Given the description of an element on the screen output the (x, y) to click on. 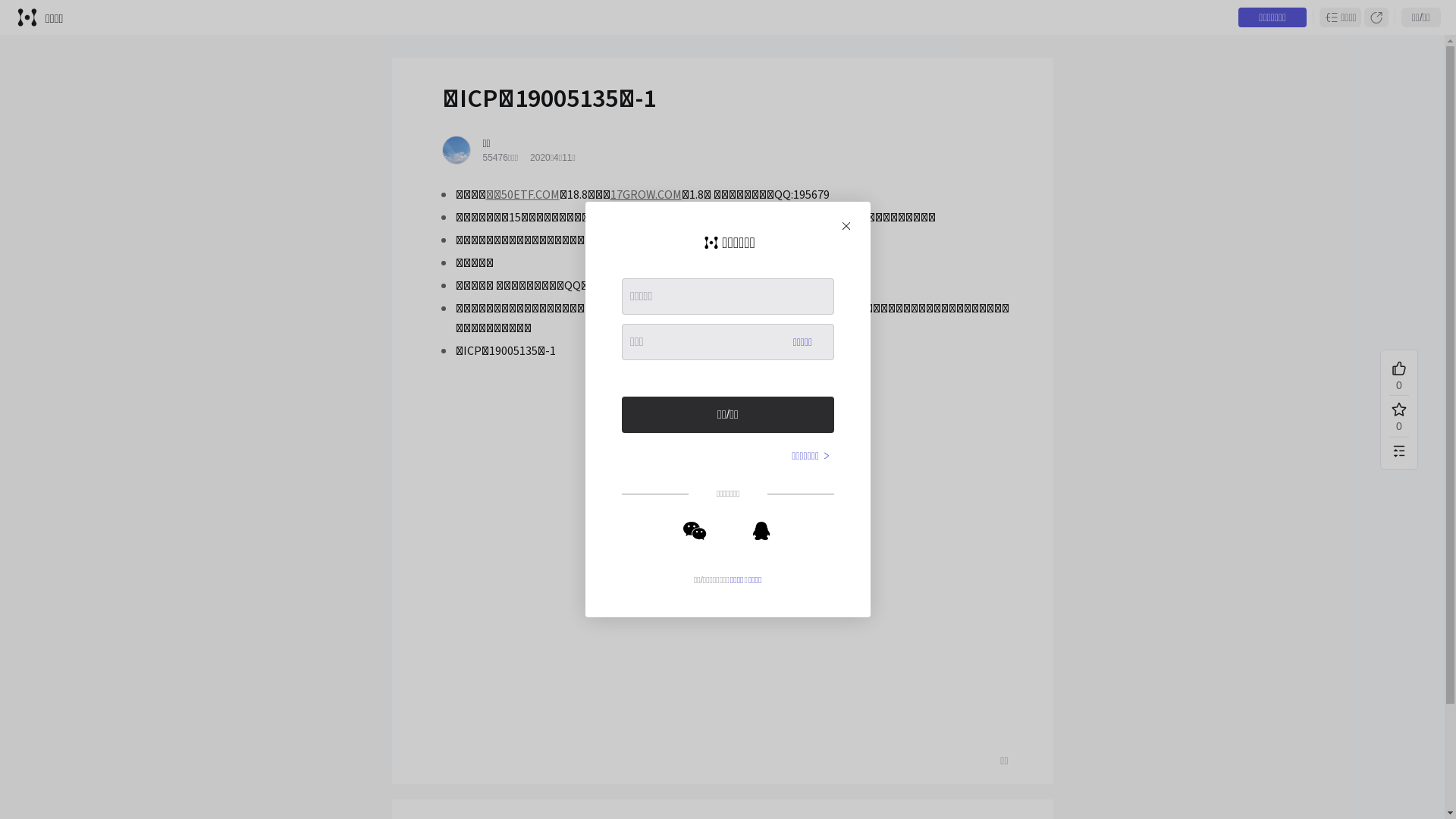
17GROW.COM Element type: text (644, 194)
